Given the description of an element on the screen output the (x, y) to click on. 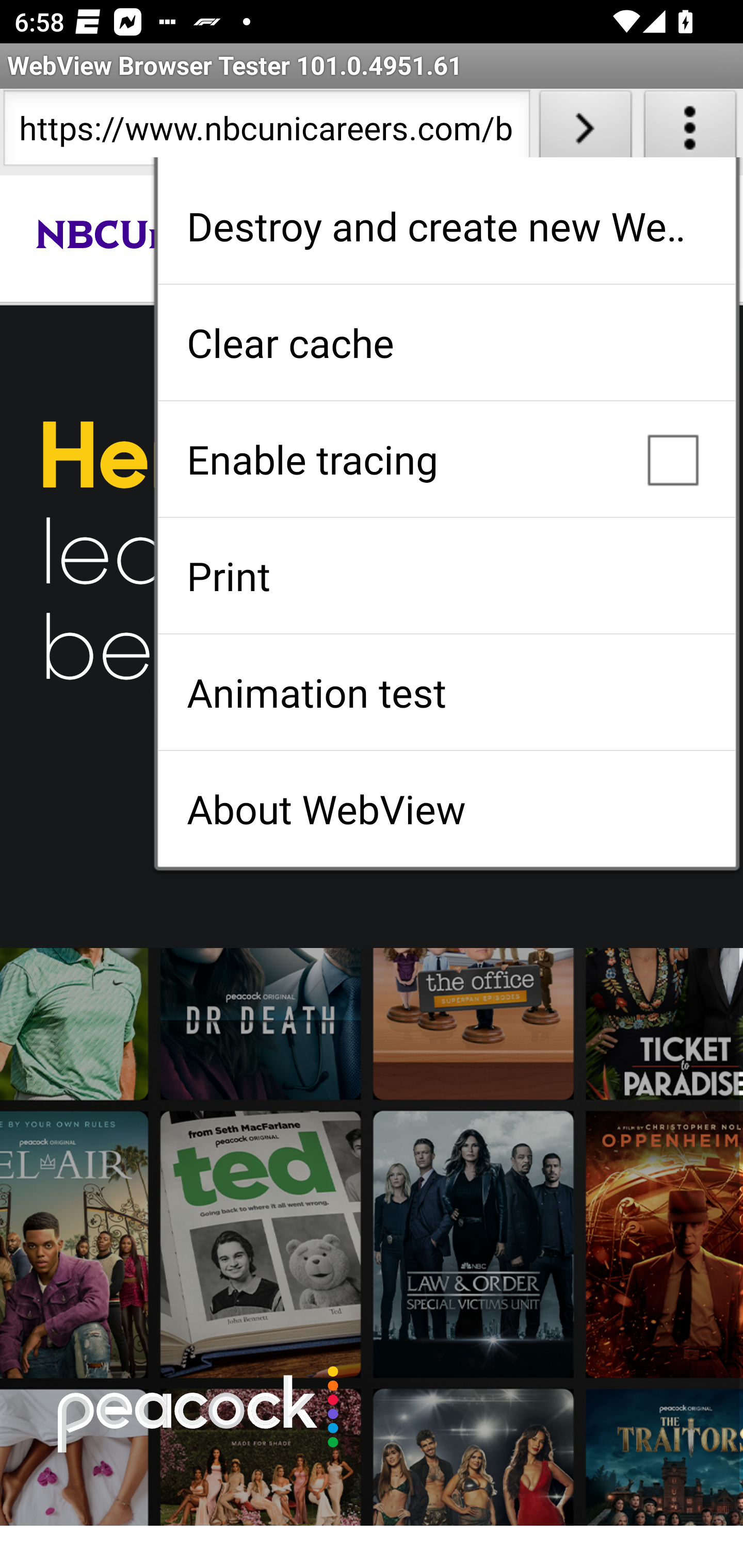
Destroy and create new WebView (446, 225)
Clear cache (446, 342)
Enable tracing (446, 459)
Print (446, 575)
Animation test (446, 692)
About WebView (446, 809)
